Given the description of an element on the screen output the (x, y) to click on. 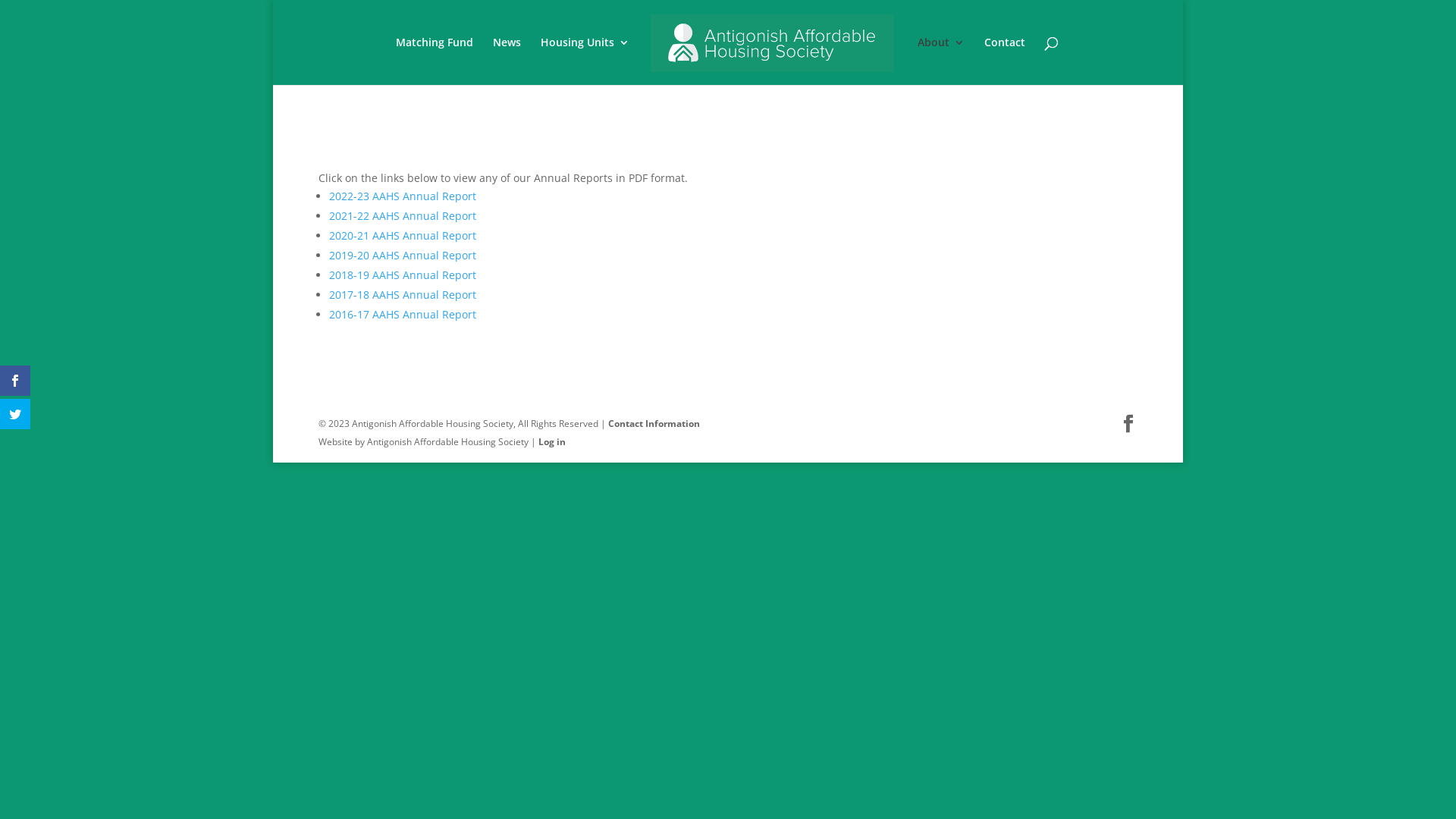
Log in Element type: text (551, 441)
Contact Information Element type: text (653, 423)
News Element type: text (506, 60)
Matching Fund Element type: text (434, 60)
2019-20 AAHS Annual Report Element type: text (402, 254)
2017-18 AAHS Annual Report Element type: text (402, 294)
2022-23 AAHS Annual Report Element type: text (402, 195)
2021-22 AAHS Annual Report Element type: text (402, 215)
2016-17 AAHS Annual Report Element type: text (402, 314)
About Element type: text (940, 60)
2018-19 AAHS Annual Report Element type: text (402, 274)
Housing Units Element type: text (584, 60)
2020-21 AAHS Annual Report Element type: text (402, 235)
Contact Element type: text (1004, 60)
